Given the description of an element on the screen output the (x, y) to click on. 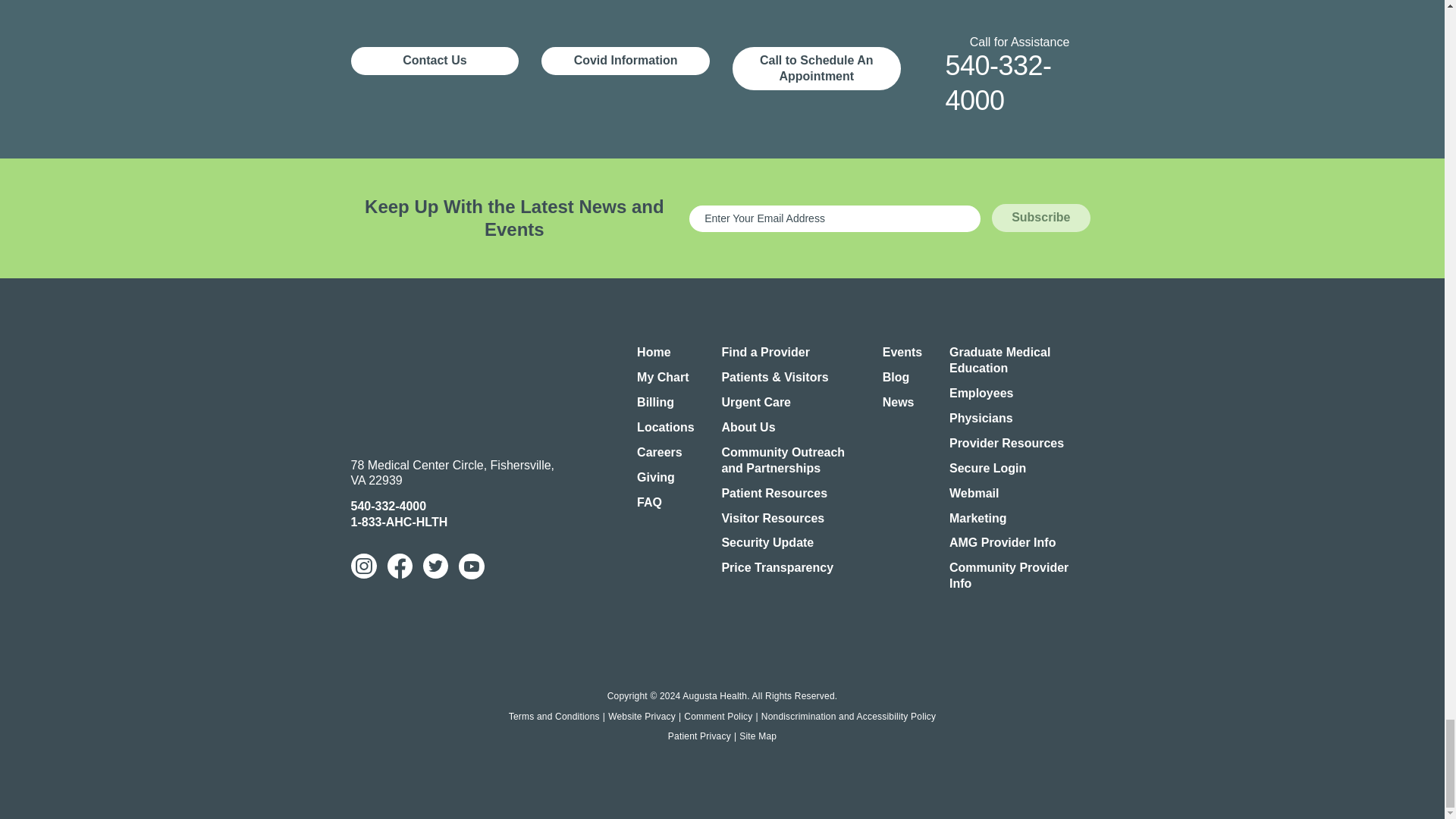
Subscribe (1040, 217)
